Given the description of an element on the screen output the (x, y) to click on. 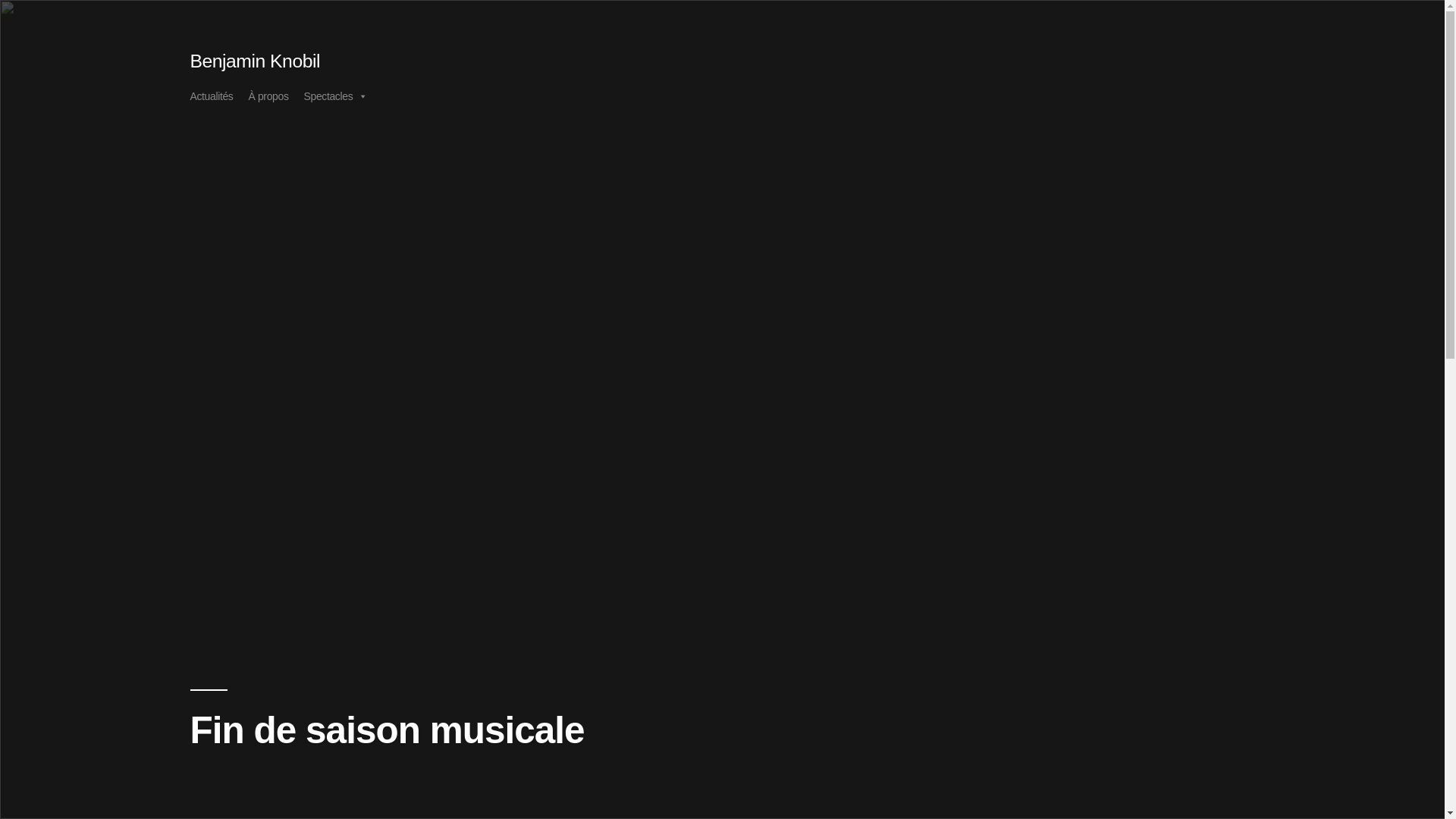
Spectacles Element type: text (343, 96)
Benjamin Knobil Element type: text (254, 60)
